Given the description of an element on the screen output the (x, y) to click on. 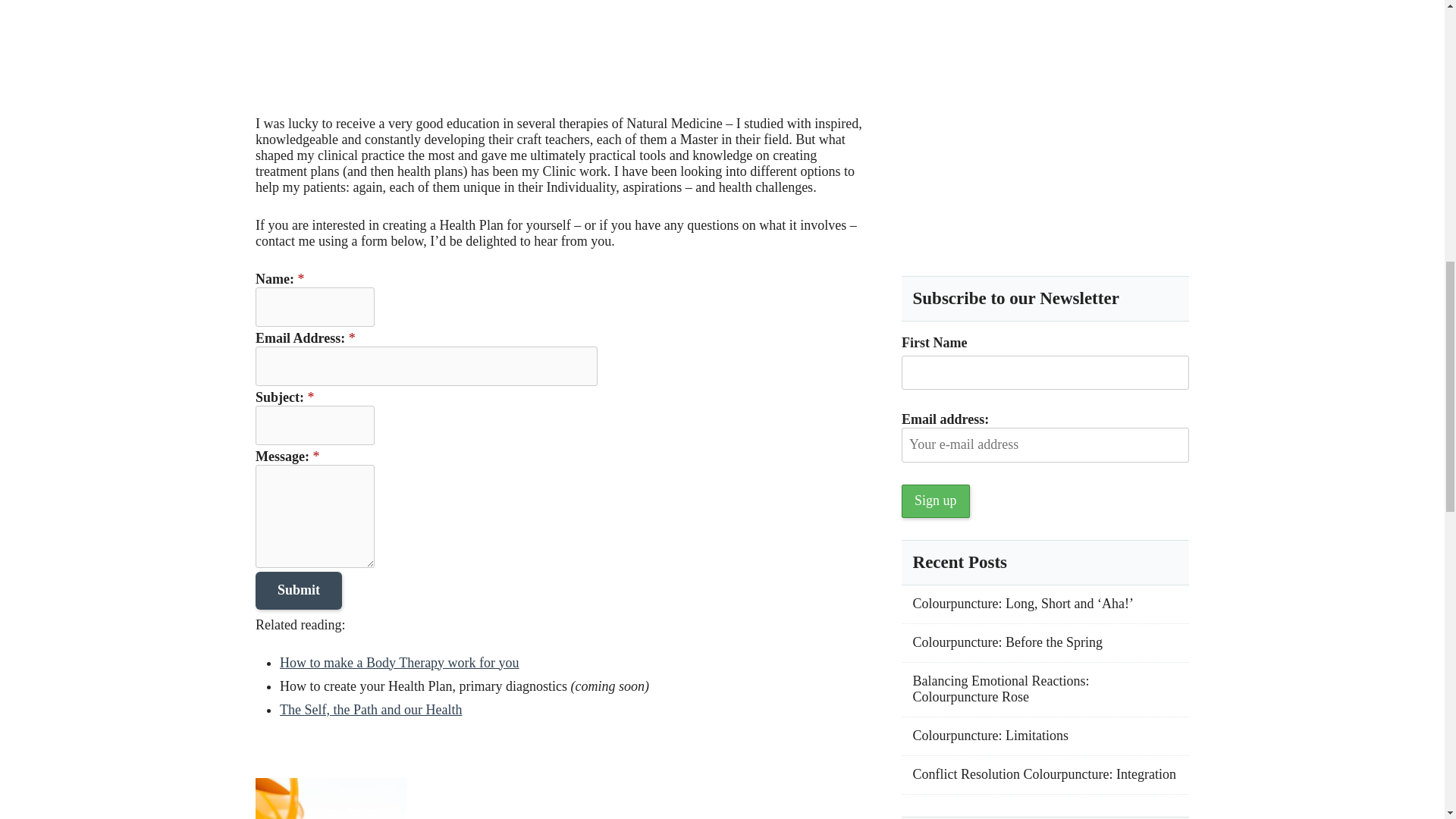
Sign up (935, 500)
YouTube video player (467, 45)
Submit (299, 590)
